Given the description of an element on the screen output the (x, y) to click on. 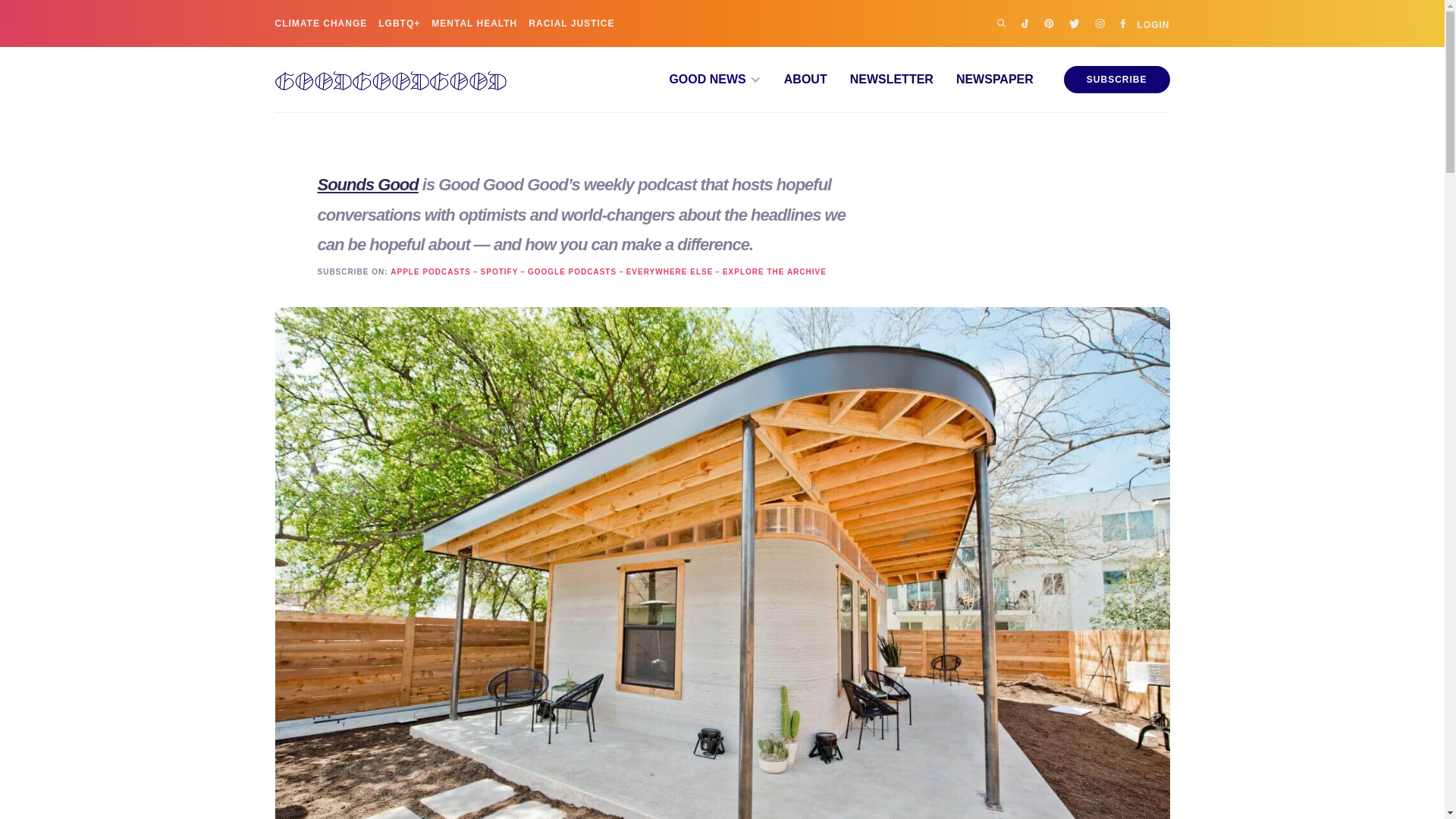
NEWSLETTER (880, 79)
LOGIN (1153, 23)
GOOGLE PODCASTS (571, 271)
ABOUT (794, 79)
CLIMATE CHANGE (320, 22)
SPOTIFY (499, 271)
NEWSPAPER (983, 79)
RACIAL JUSTICE (571, 22)
Sounds Good (367, 184)
MENTAL HEALTH (473, 22)
